Given the description of an element on the screen output the (x, y) to click on. 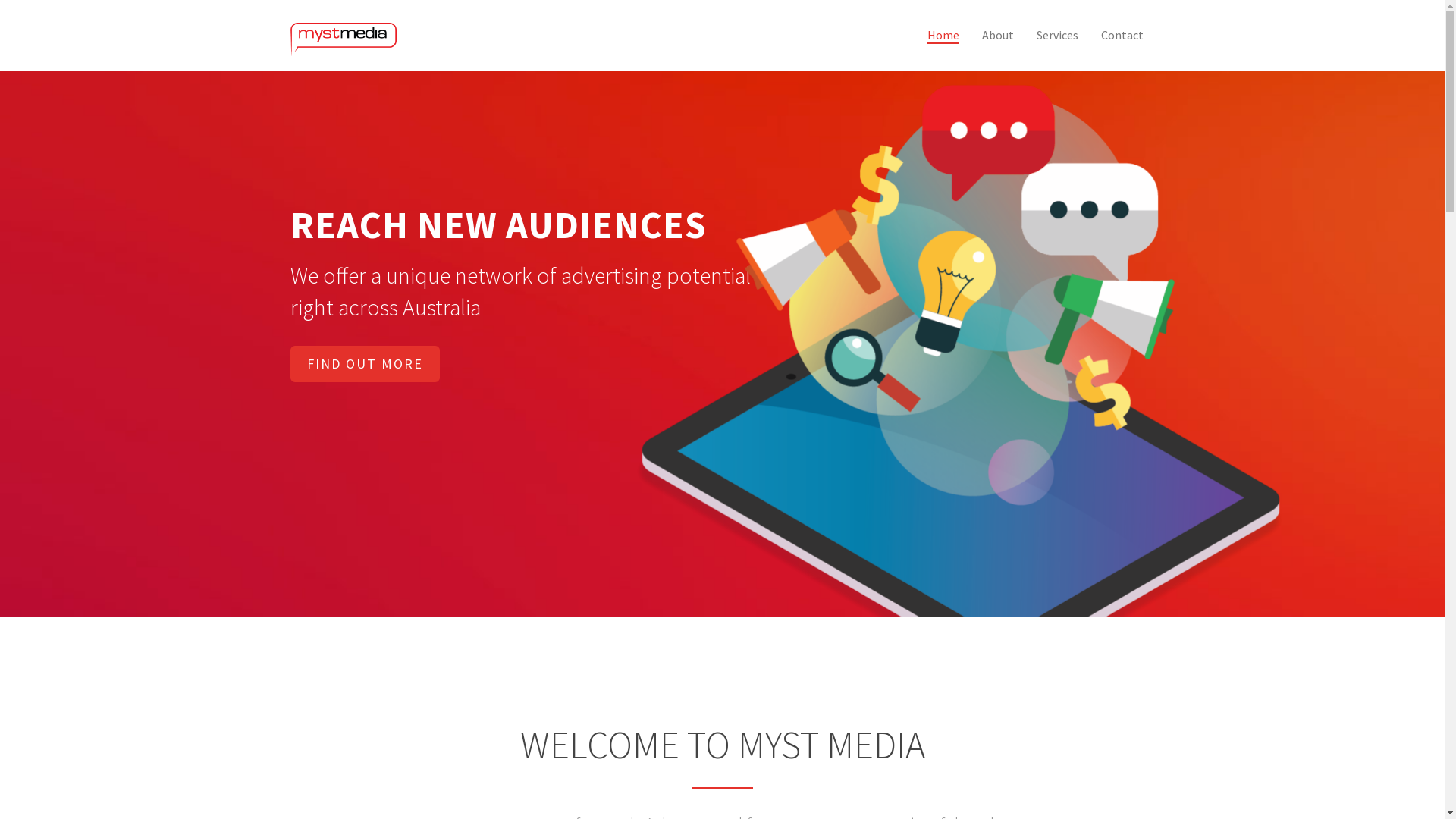
Services Element type: text (1057, 35)
About Element type: text (997, 35)
FIND OUT MORE Element type: text (364, 363)
Contact Element type: text (1121, 35)
Home Element type: text (943, 35)
